Given the description of an element on the screen output the (x, y) to click on. 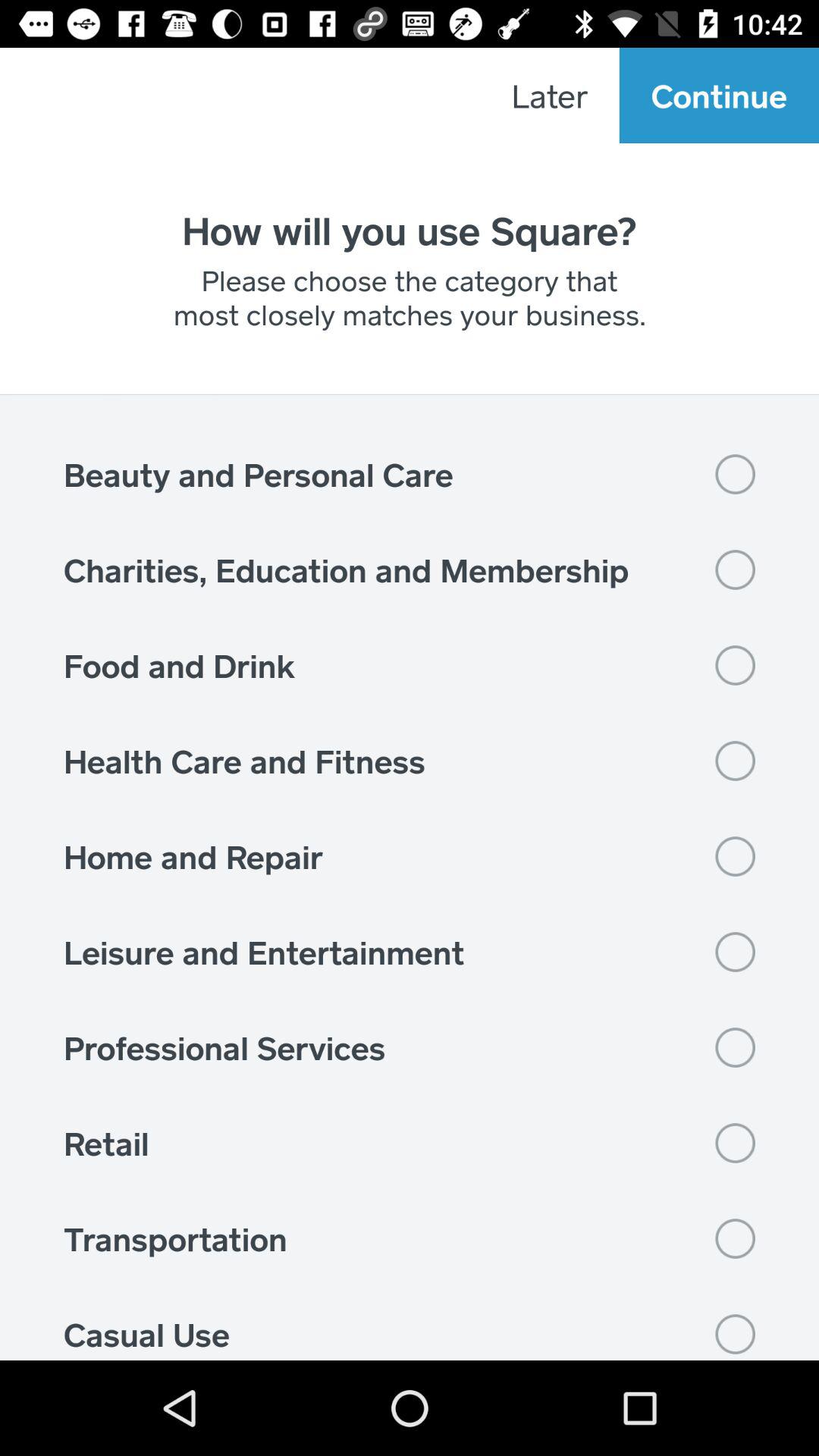
click the icon above retail item (409, 1047)
